Given the description of an element on the screen output the (x, y) to click on. 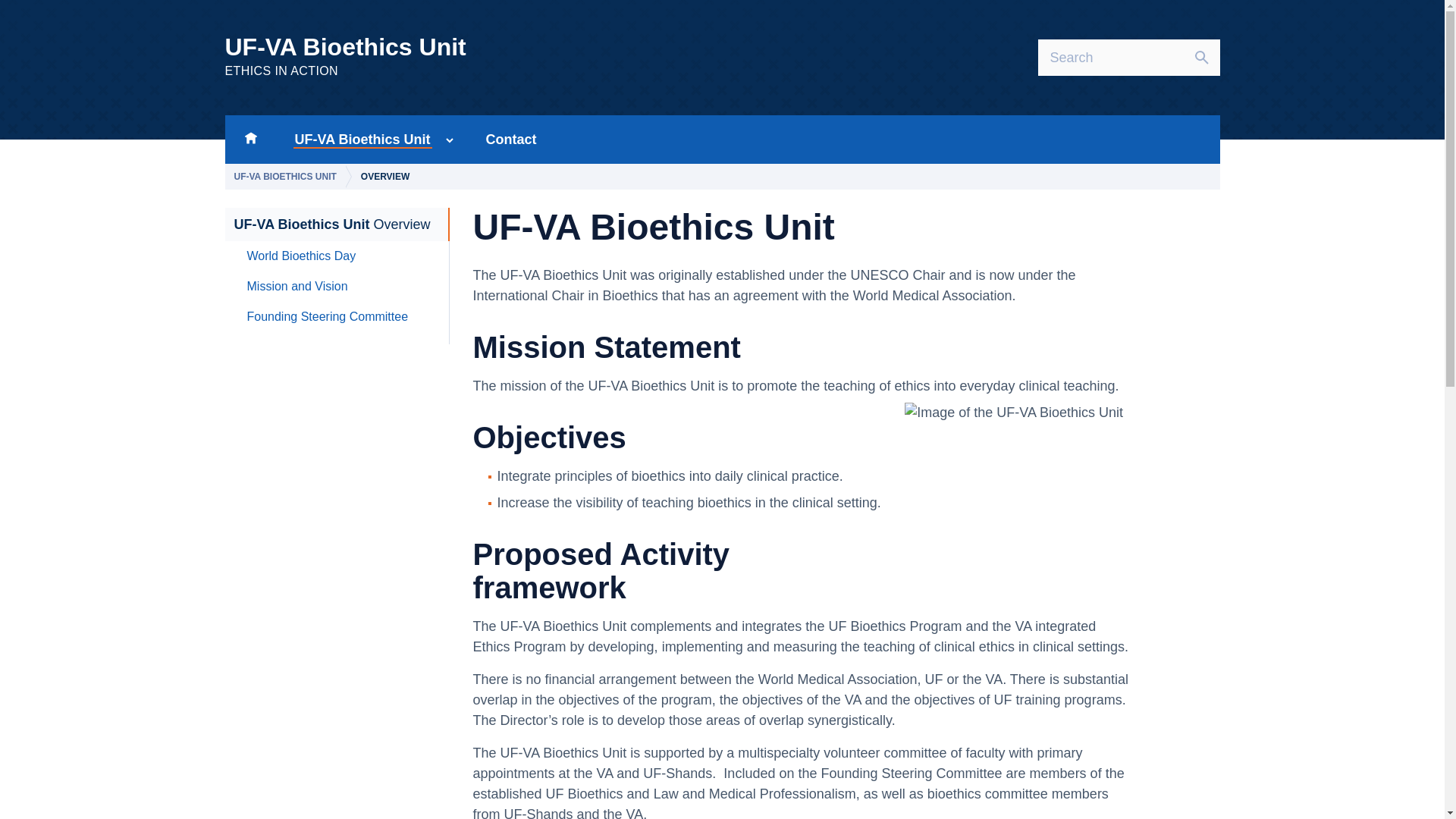
UF-VA Bioethics Unit Overview (330, 224)
World Bioethics Day (357, 139)
UF-VA BIOETHICS UNIT (301, 256)
Contact (287, 176)
Skip to main content (510, 139)
Mission and Vision (250, 139)
Skip to main content (297, 286)
